Given the description of an element on the screen output the (x, y) to click on. 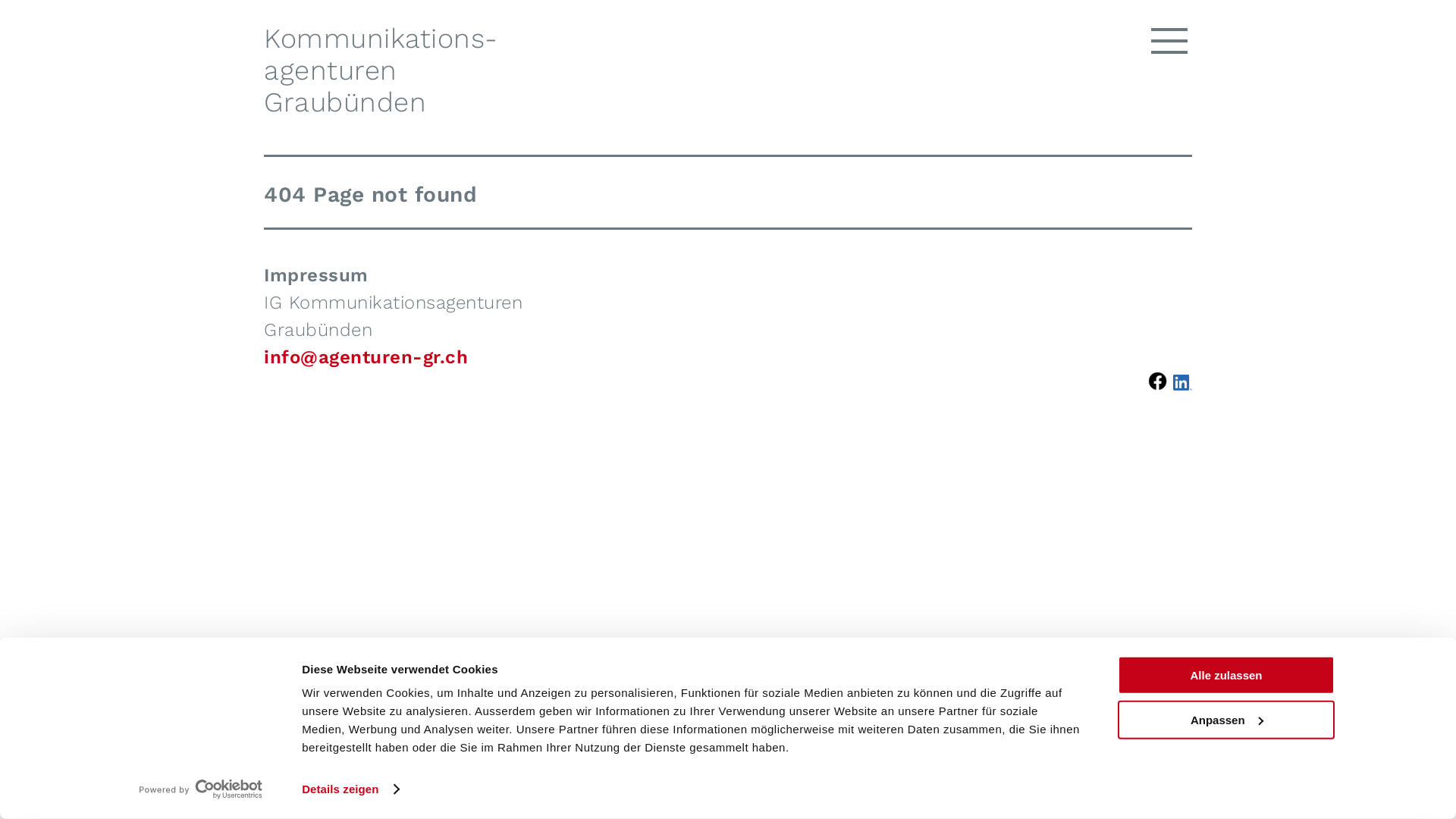
info@agenturen-gr.ch Element type: text (365, 356)
Anpassen Element type: text (1225, 718)
Alle zulassen Element type: text (1225, 674)
Details zeigen Element type: text (349, 789)
